Given the description of an element on the screen output the (x, y) to click on. 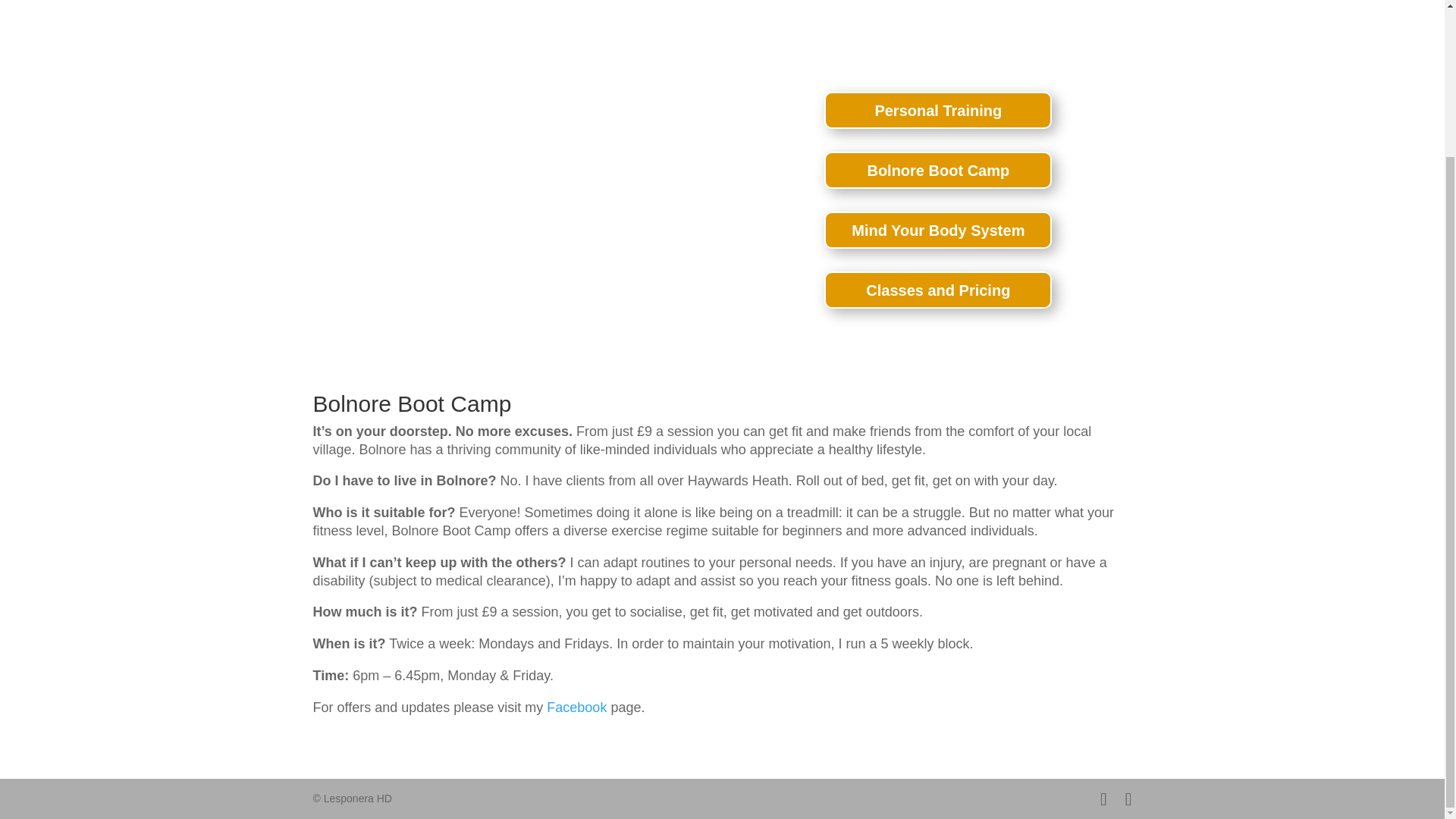
Facebook (577, 707)
Classes and Pricing (937, 289)
Personal Training (937, 109)
Bolnore Boot Camp (937, 170)
Facebook (577, 707)
Mind Your Body System (937, 229)
